Given the description of an element on the screen output the (x, y) to click on. 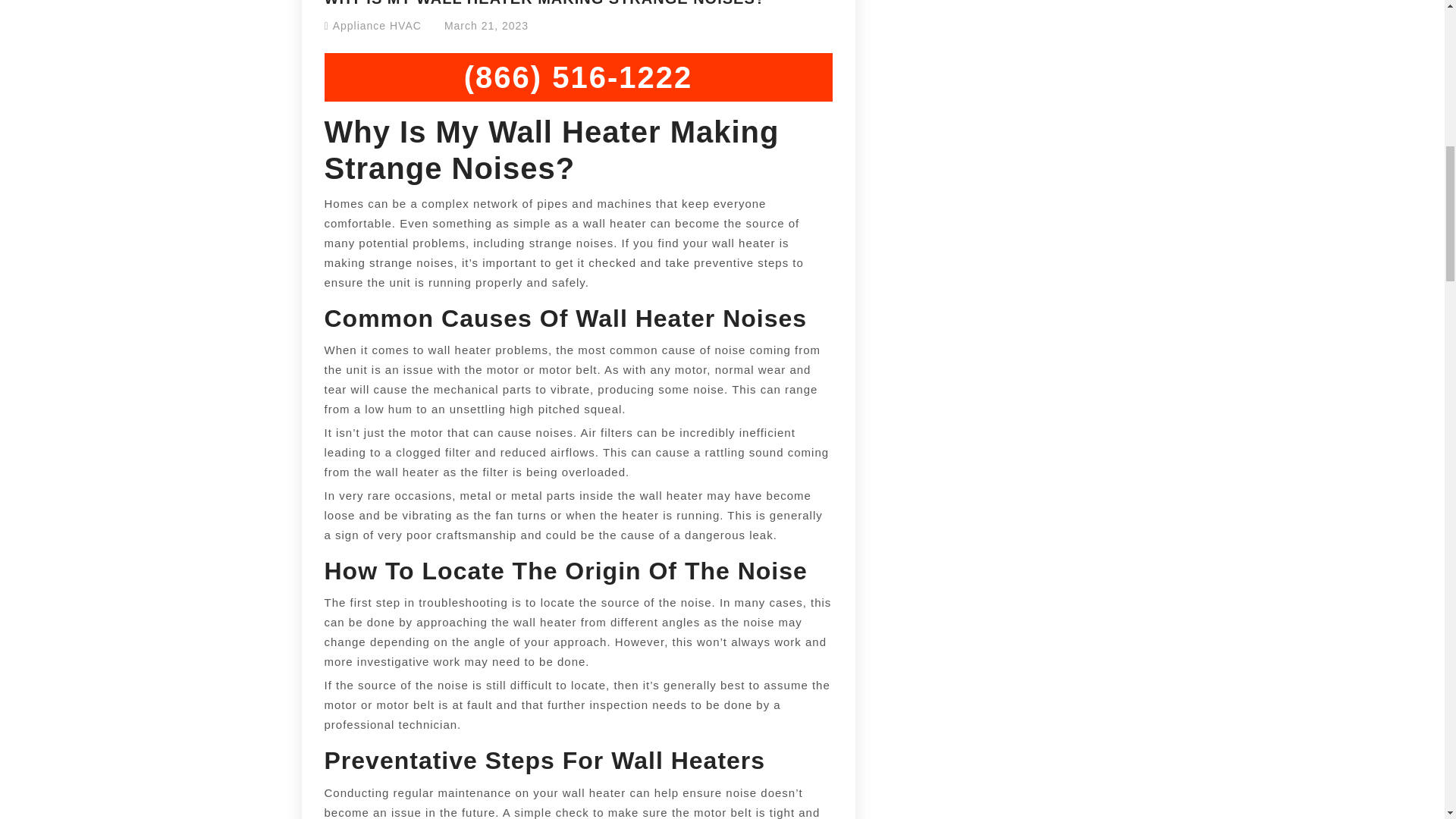
March 21, 2023 (486, 25)
Appliance HVAC (377, 25)
